Given the description of an element on the screen output the (x, y) to click on. 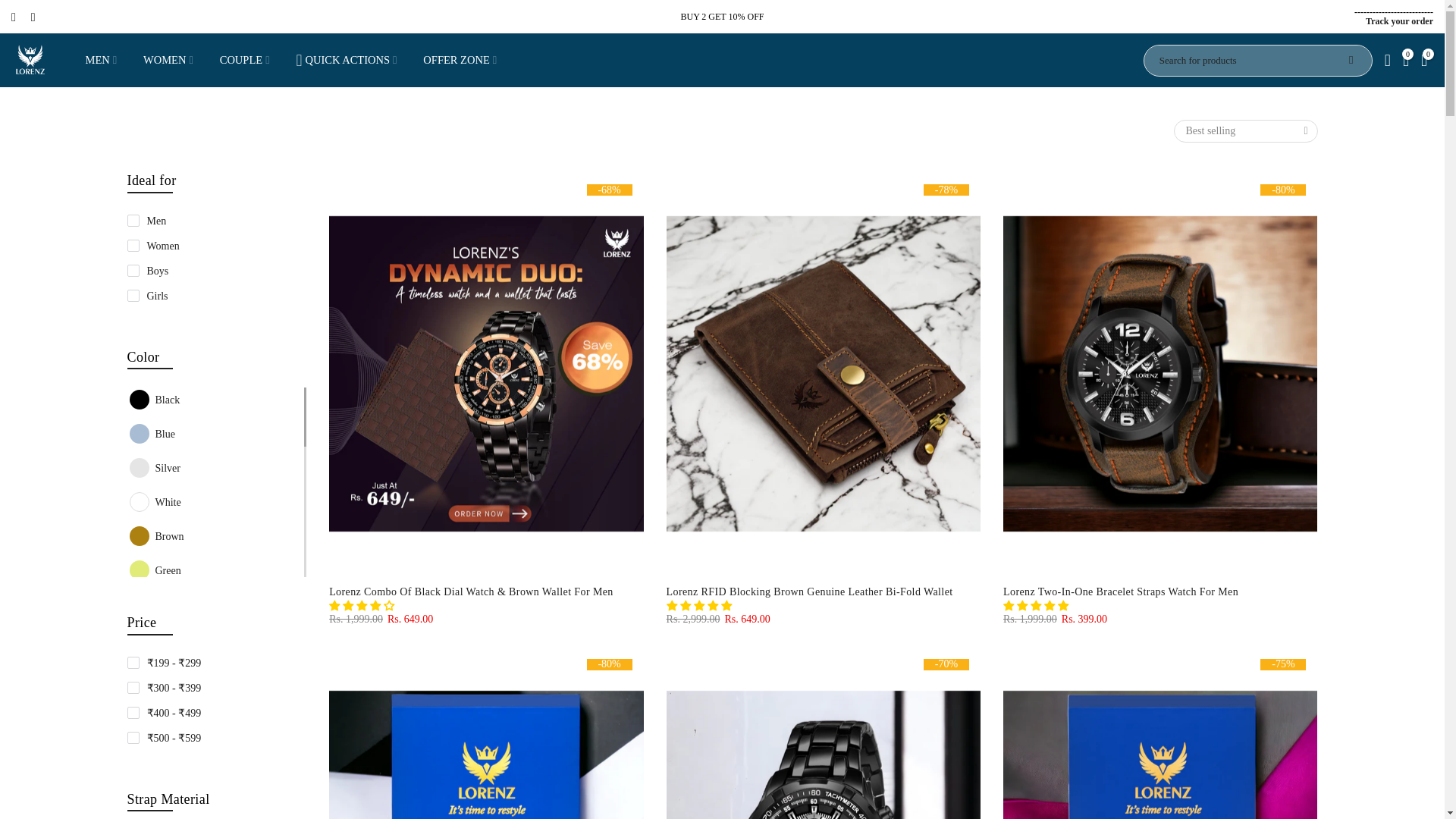
COUPLE (244, 59)
QUICK ACTIONS (217, 261)
Track your order (346, 59)
WOMEN (1398, 20)
MEN (168, 59)
